Given the description of an element on the screen output the (x, y) to click on. 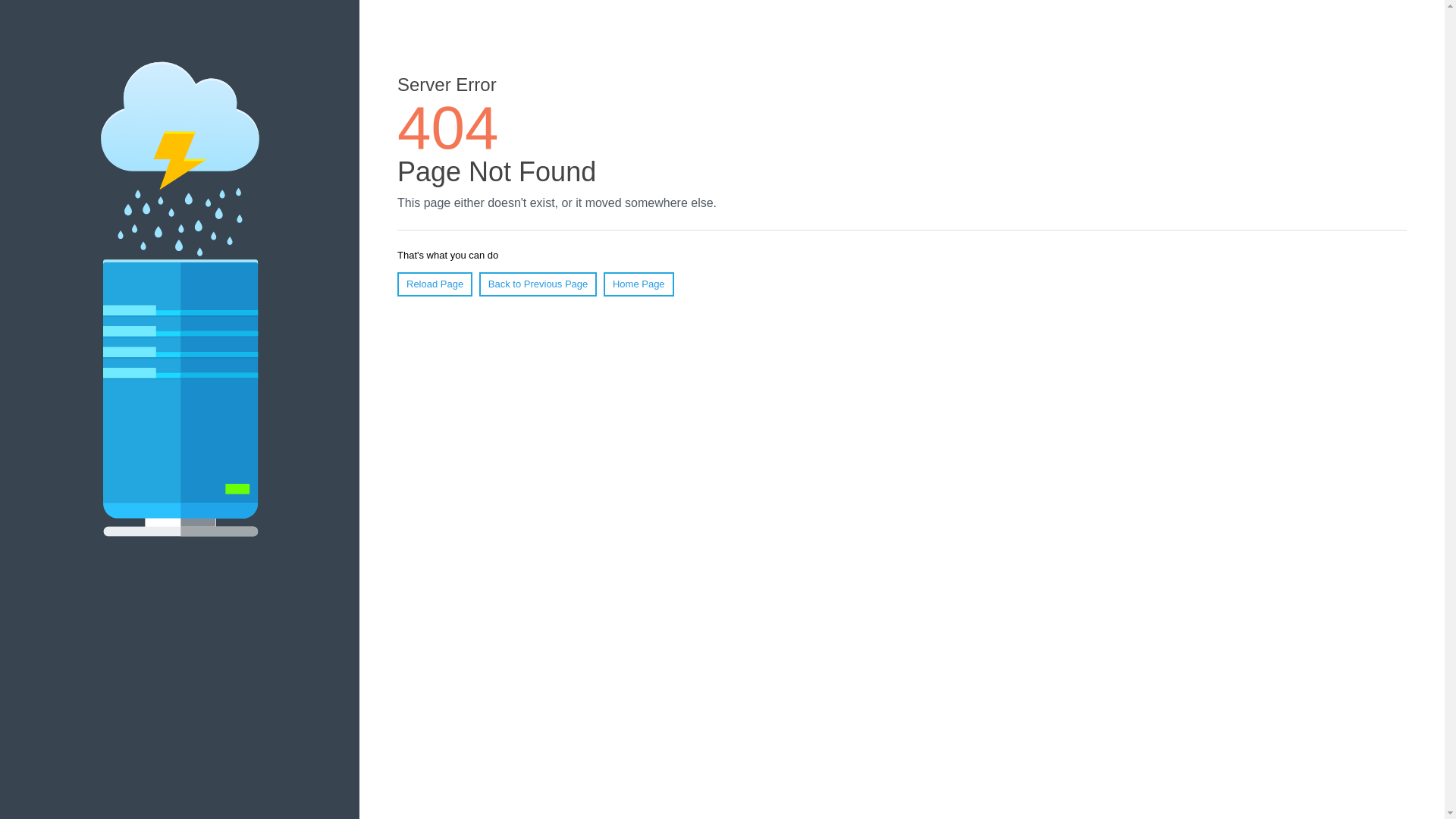
Reload Page Element type: text (434, 284)
Back to Previous Page Element type: text (538, 284)
Home Page Element type: text (638, 284)
